Given the description of an element on the screen output the (x, y) to click on. 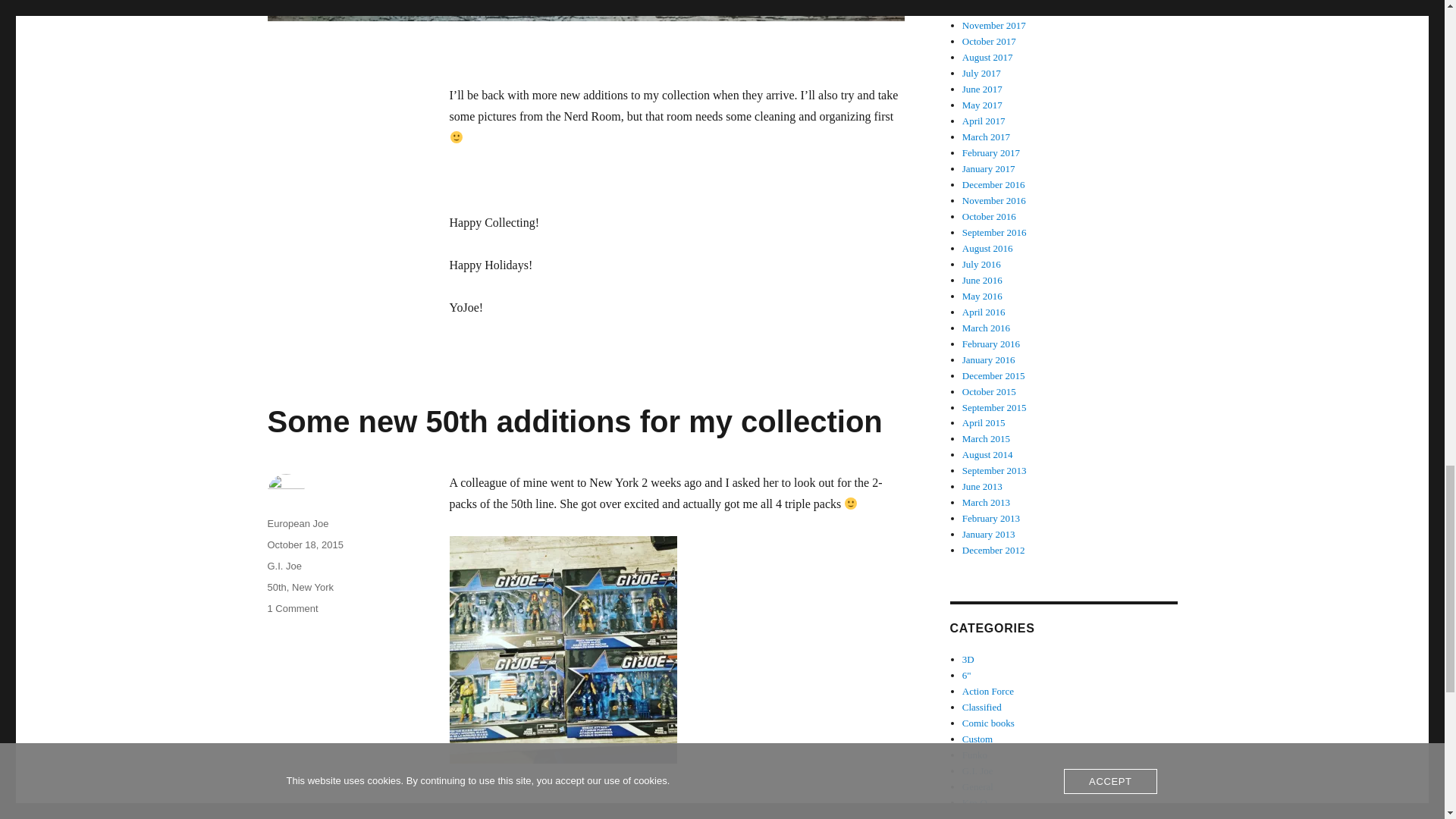
G.I. Joe (283, 565)
European Joe (297, 523)
October 18, 2015 (304, 544)
New York (312, 586)
Some new 50th additions for my collection (574, 421)
50th (291, 608)
